Given the description of an element on the screen output the (x, y) to click on. 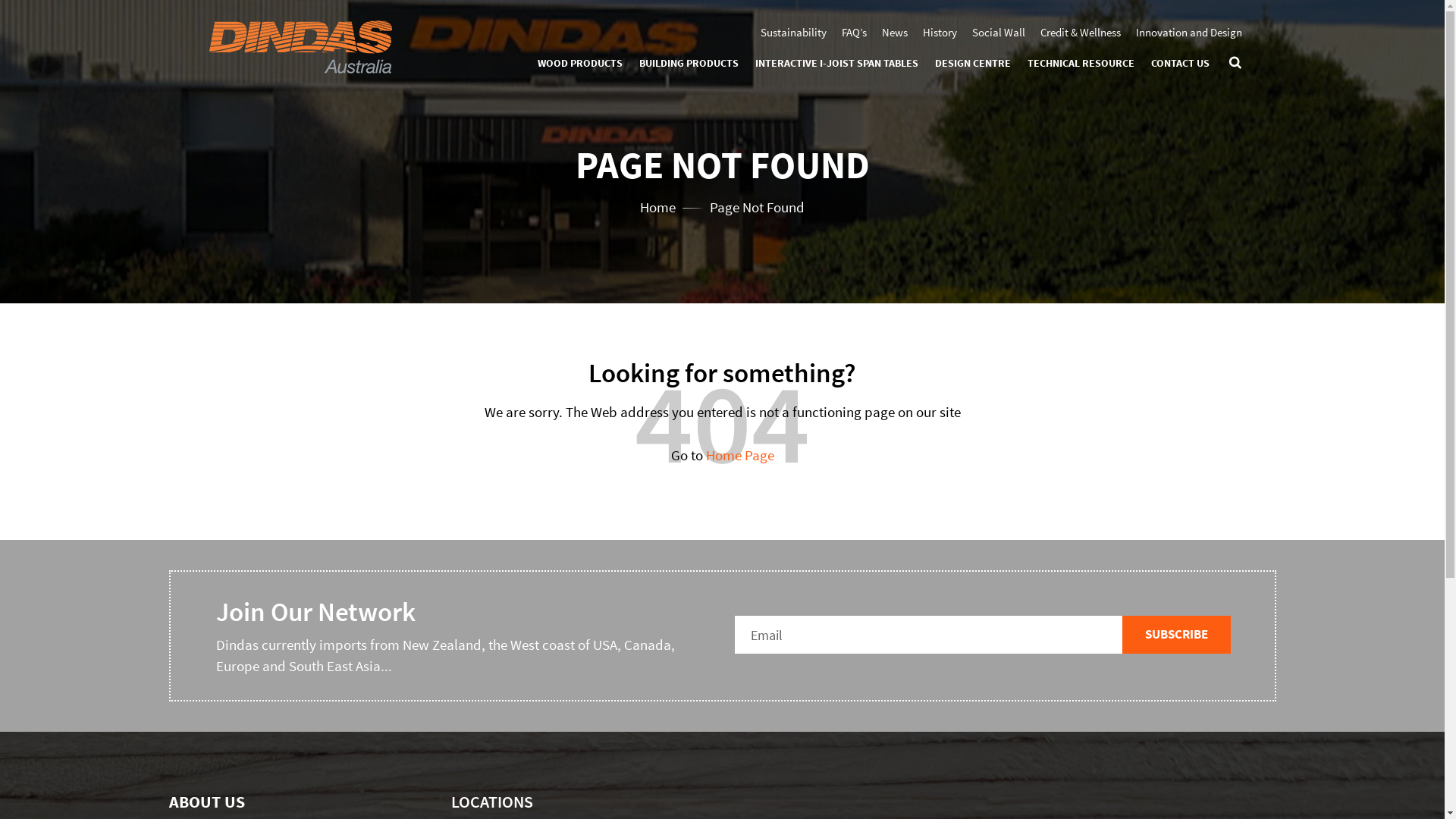
WOOD PRODUCTS Element type: text (579, 63)
Home Element type: text (657, 206)
BUILDING PRODUCTS Element type: text (687, 63)
Credit & Wellness Element type: text (1080, 31)
History Element type: text (939, 31)
Dindas Australia Element type: hover (300, 45)
CONTACT US Element type: text (1180, 63)
Social Wall Element type: text (998, 31)
DESIGN CENTRE Element type: text (971, 63)
Home Page Element type: text (739, 454)
Sustainability Element type: text (792, 31)
Search Element type: hover (1234, 57)
News Element type: text (893, 31)
subscribe Element type: text (1176, 634)
Innovation and Design Element type: text (1188, 31)
TECHNICAL RESOURCE Element type: text (1080, 63)
INTERACTIVE I-JOIST SPAN TABLES Element type: text (836, 63)
